Given the description of an element on the screen output the (x, y) to click on. 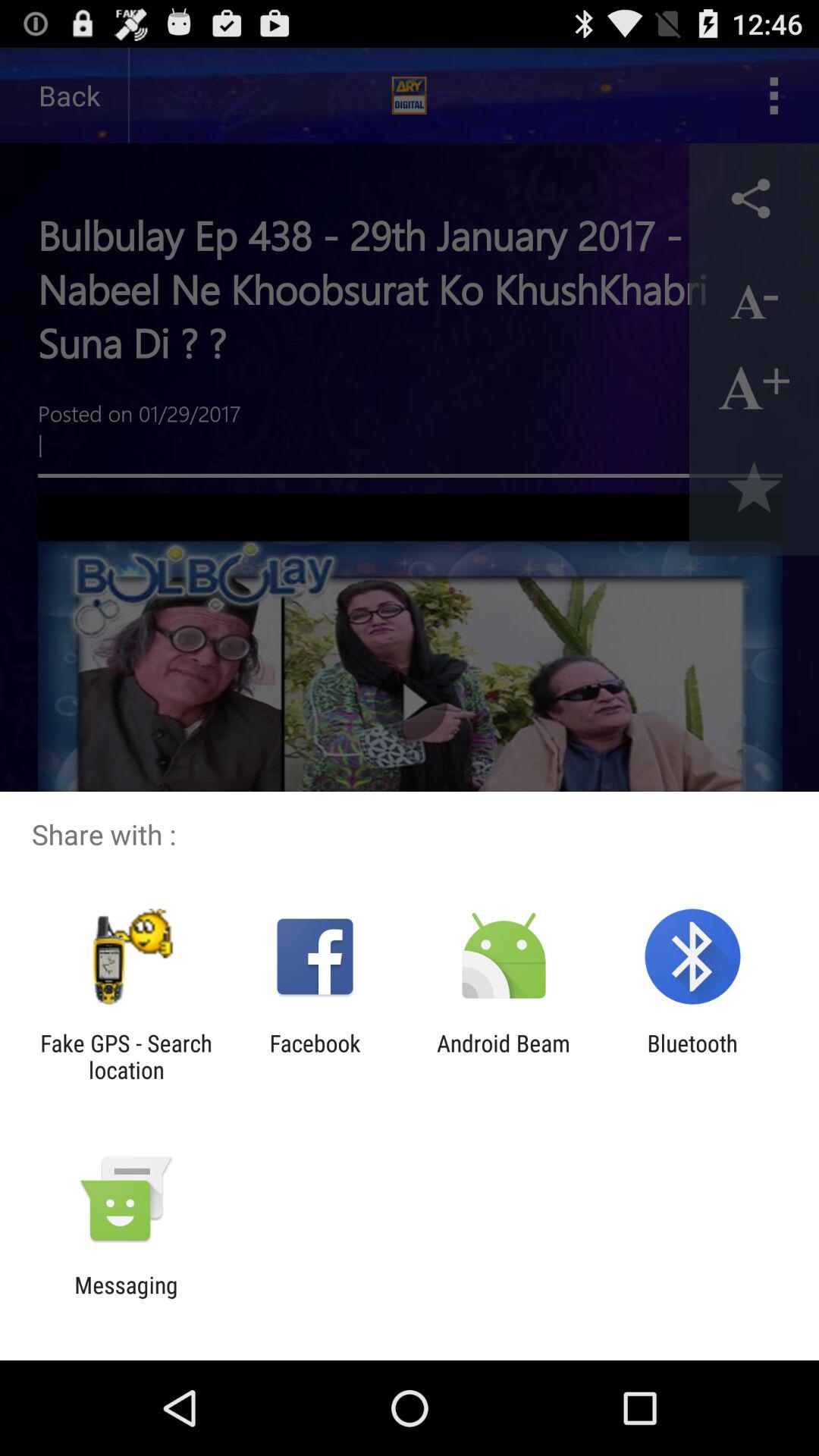
tap the icon to the left of the bluetooth (503, 1056)
